Given the description of an element on the screen output the (x, y) to click on. 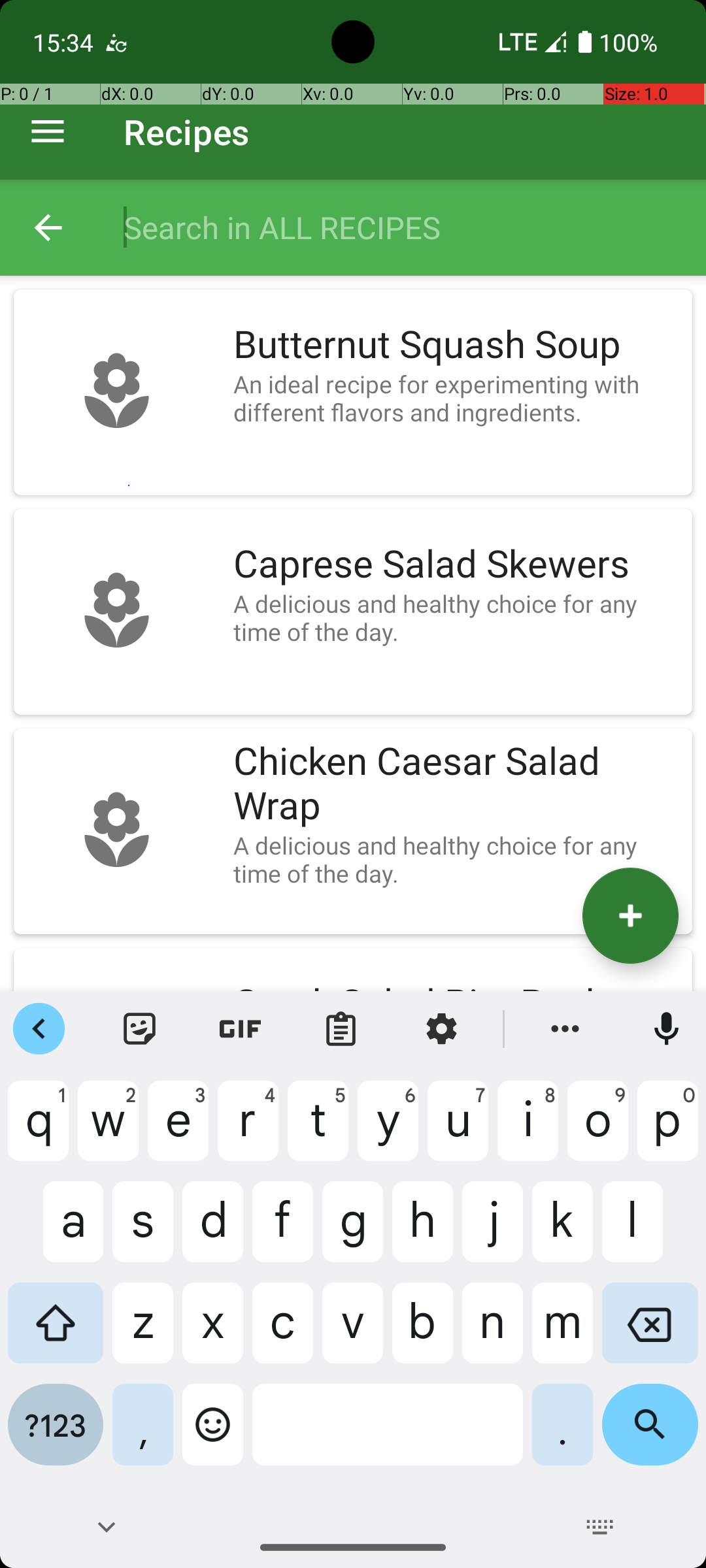
Search in ALL RECIPES Element type: android.widget.AutoCompleteTextView (400, 227)
